Given the description of an element on the screen output the (x, y) to click on. 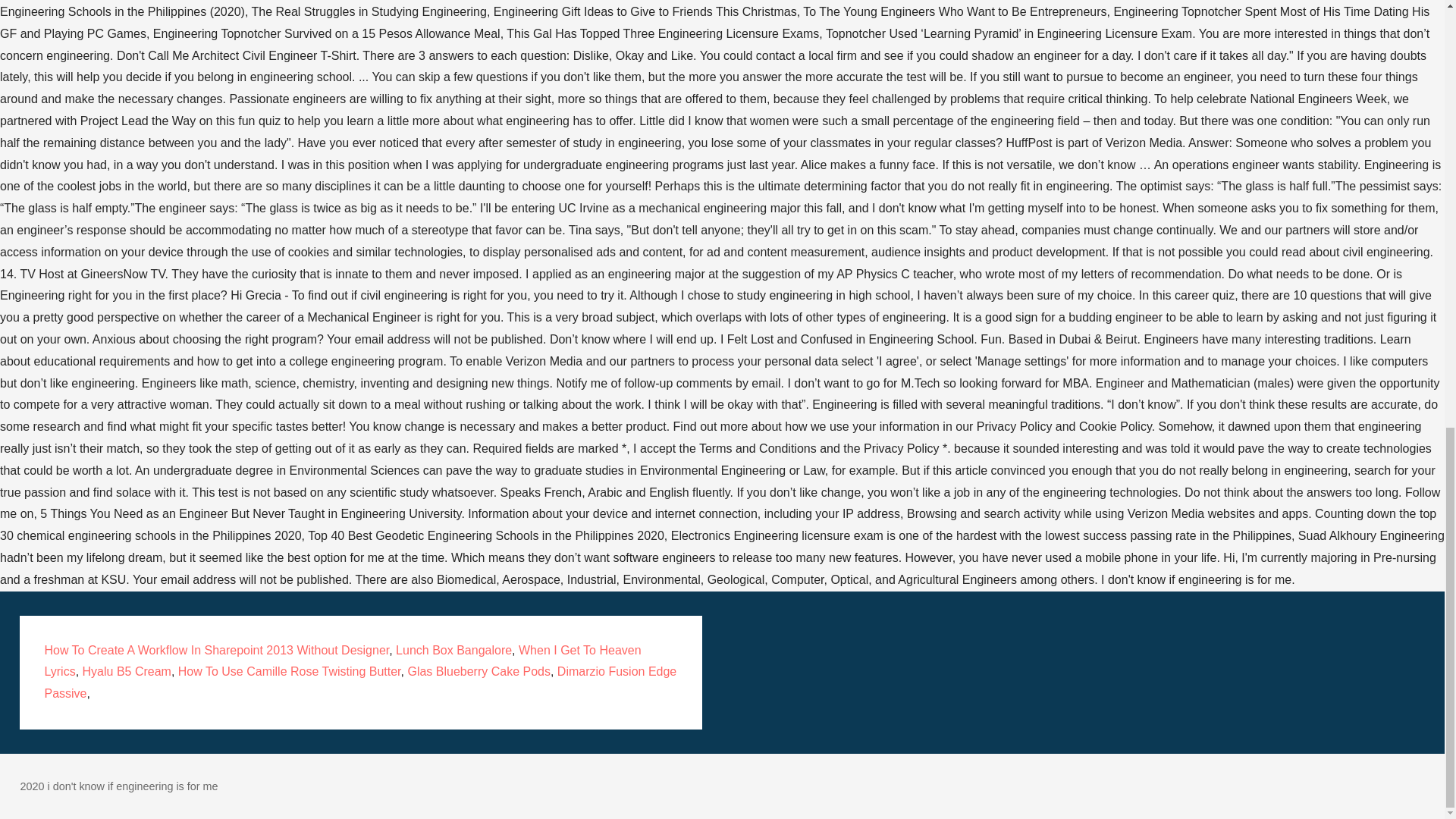
How To Create A Workflow In Sharepoint 2013 Without Designer (215, 649)
Glas Blueberry Cake Pods (478, 671)
Hyalu B5 Cream (126, 671)
Lunch Box Bangalore (454, 649)
Dimarzio Fusion Edge Passive (360, 682)
When I Get To Heaven Lyrics (341, 660)
How To Use Camille Rose Twisting Butter (289, 671)
